Given the description of an element on the screen output the (x, y) to click on. 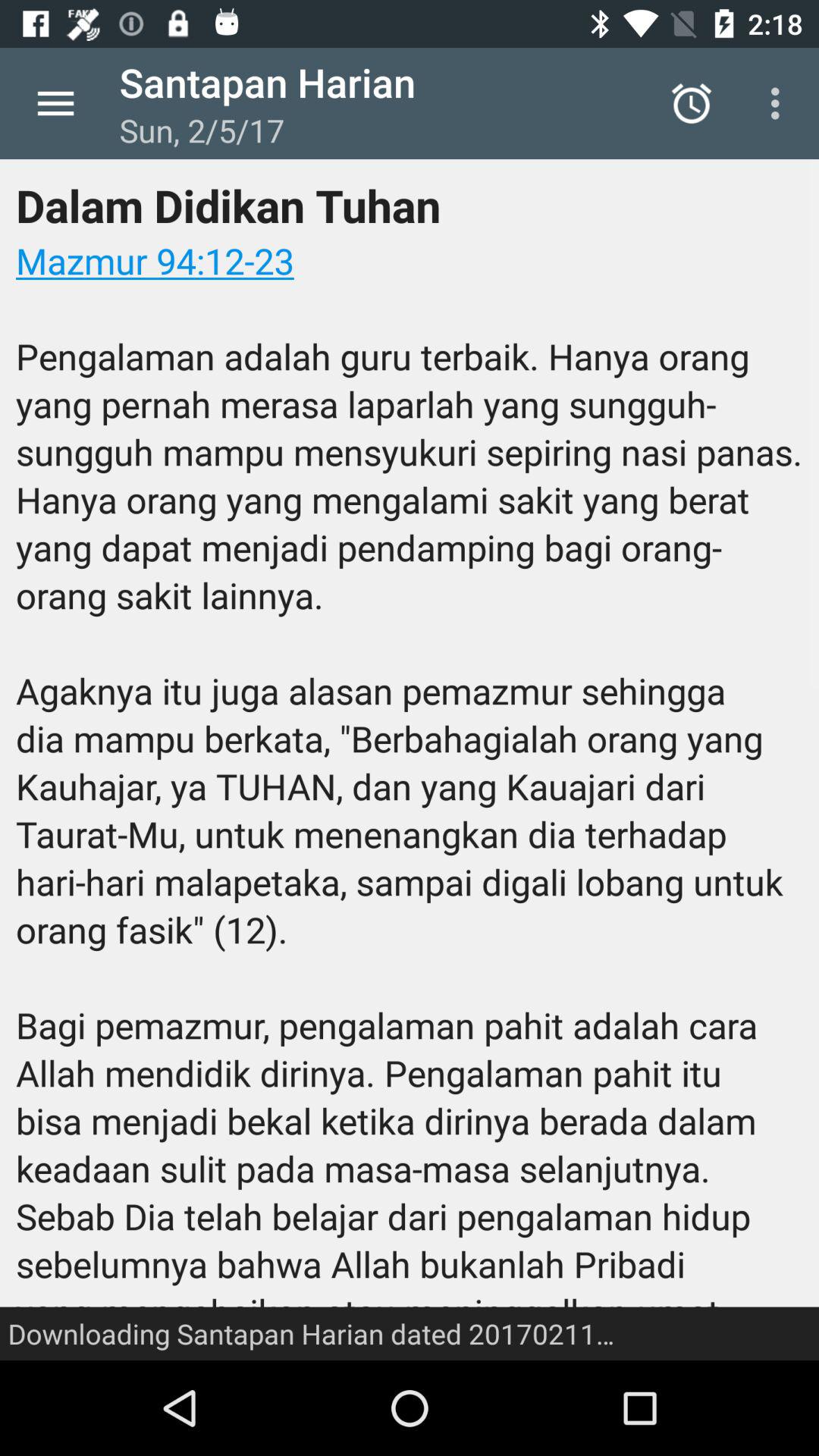
turn on the app next to santapan harian icon (691, 103)
